Given the description of an element on the screen output the (x, y) to click on. 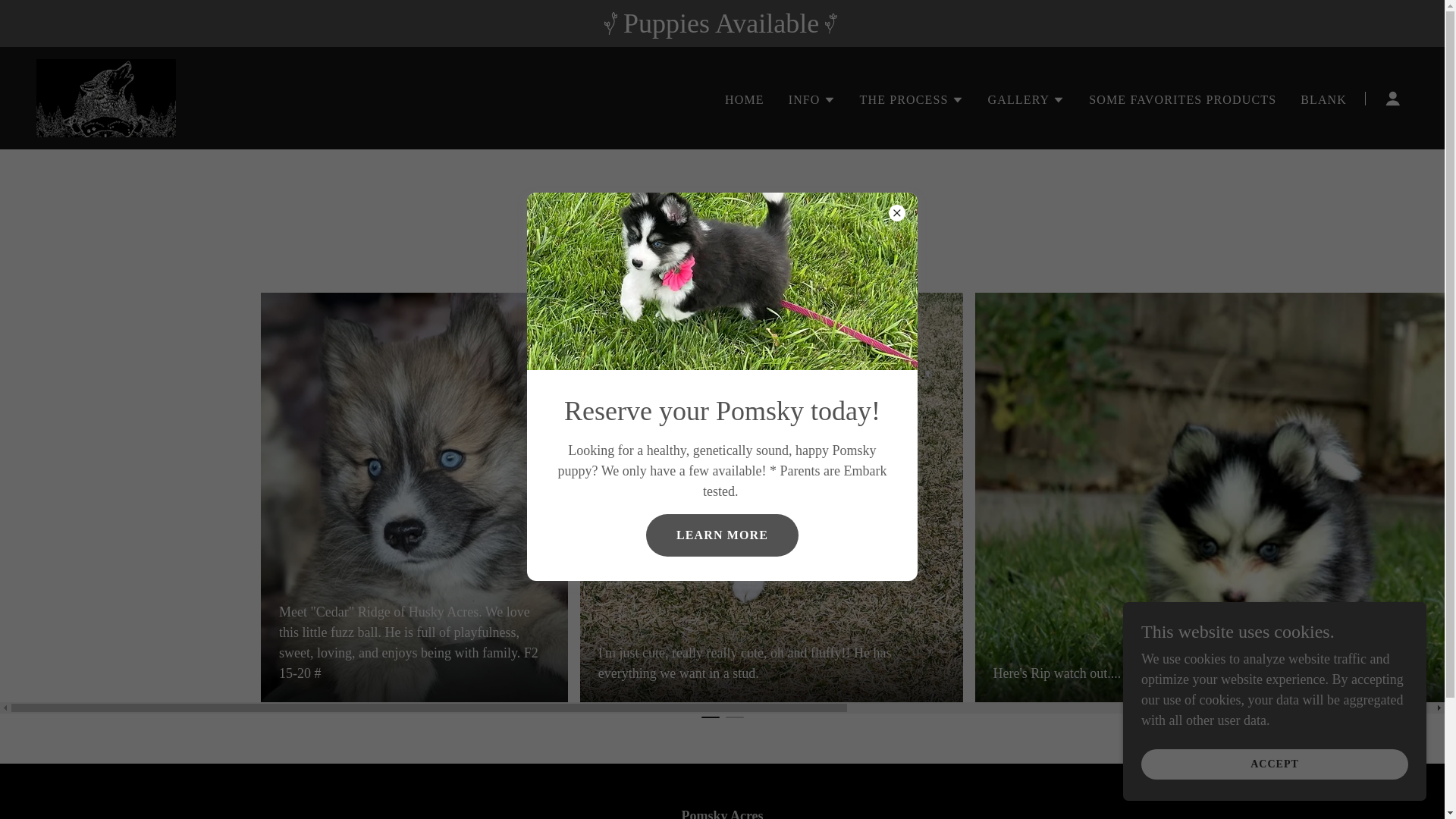
SOME FAVORITES PRODUCTS (1182, 99)
GALLERY (1026, 99)
HOME (744, 99)
THE PROCESS (911, 99)
BLANK (1323, 99)
INFO (812, 99)
